Given the description of an element on the screen output the (x, y) to click on. 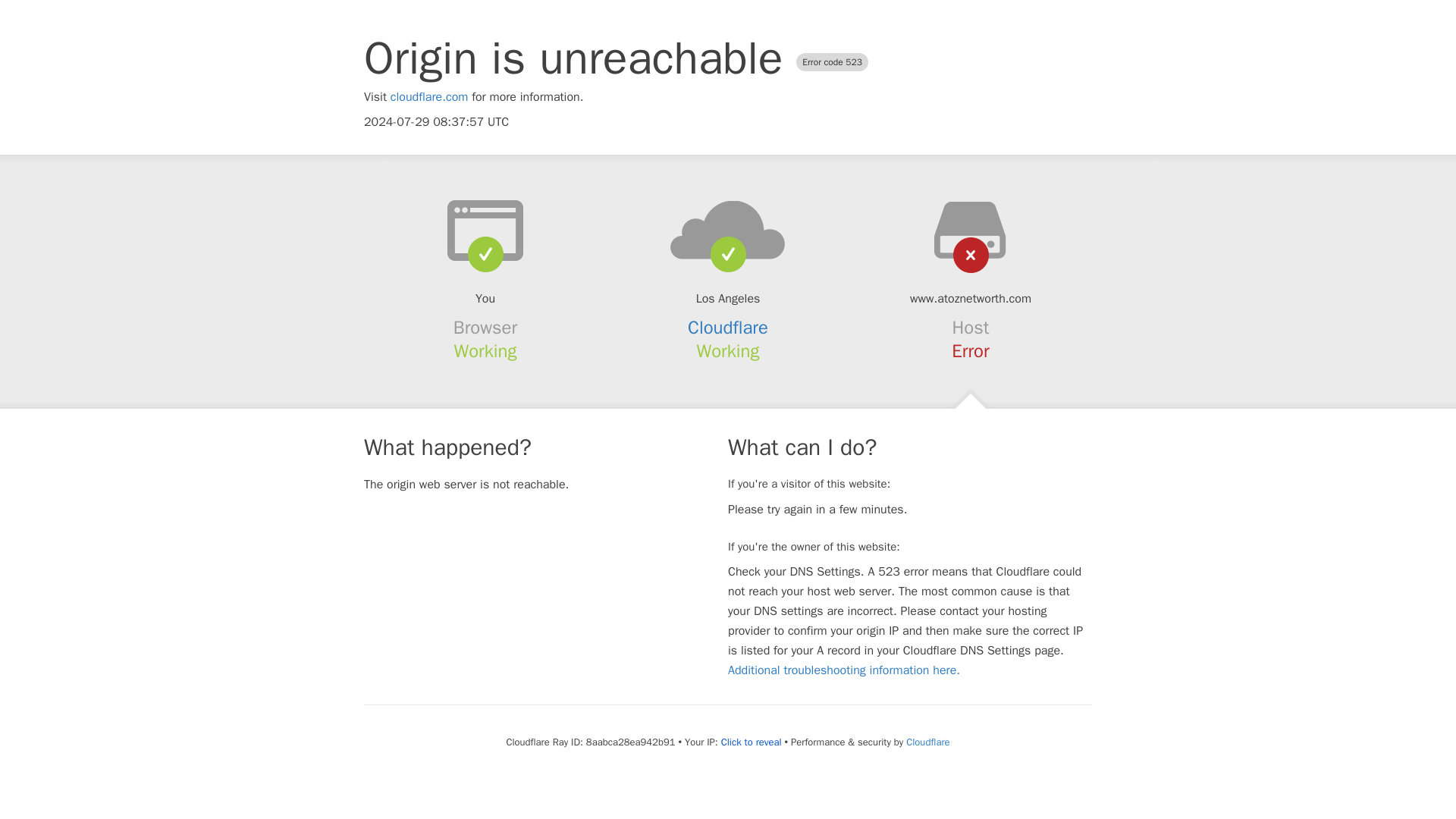
Cloudflare (927, 741)
Additional troubleshooting information here. (843, 670)
cloudflare.com (429, 96)
Cloudflare (727, 327)
Click to reveal (750, 742)
